Given the description of an element on the screen output the (x, y) to click on. 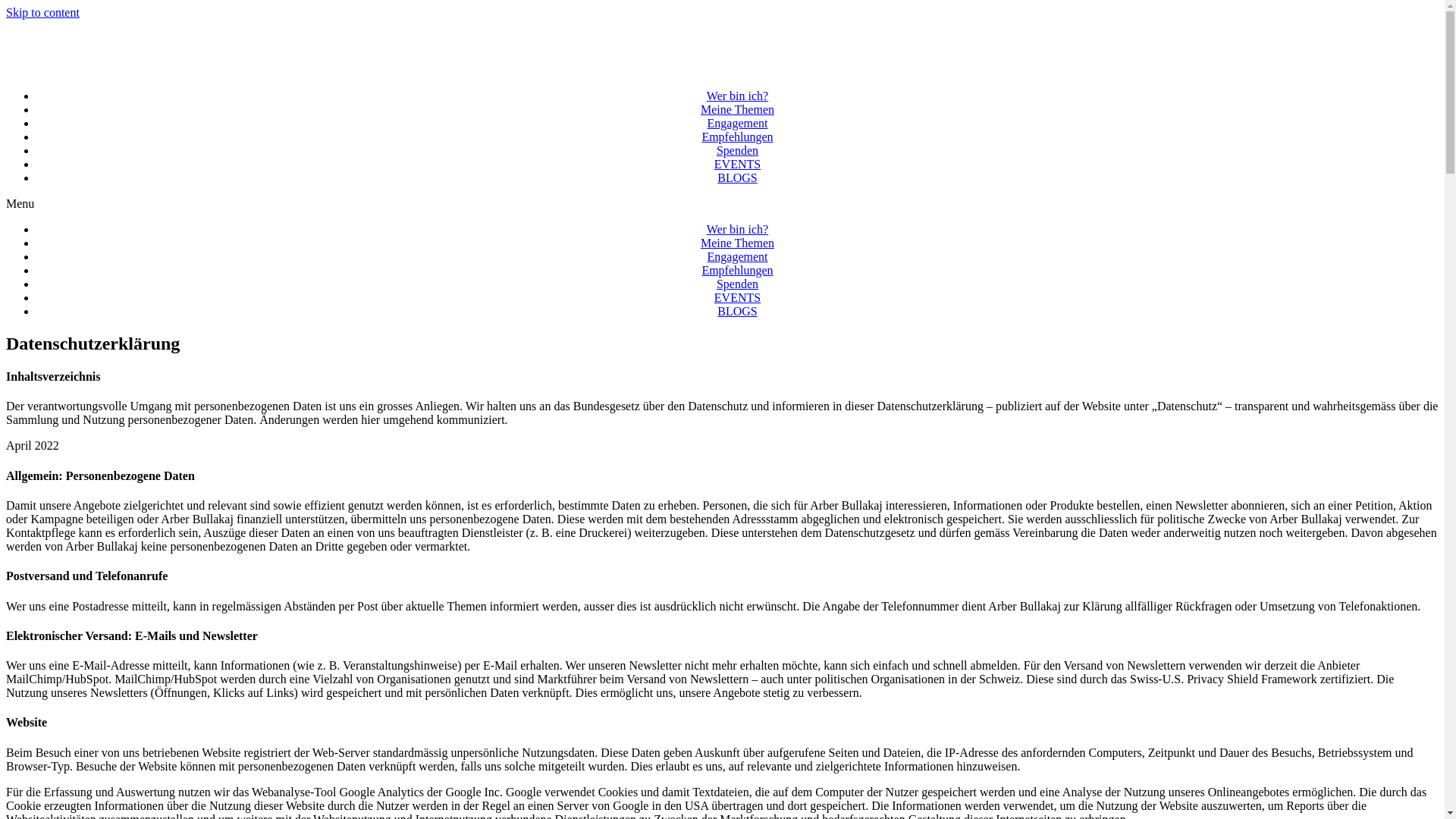
EVENTS Element type: text (737, 164)
Wer bin ich? Element type: text (737, 229)
Meine Themen Element type: text (737, 243)
Engagement Element type: text (737, 123)
EVENTS Element type: text (737, 297)
Spenden Element type: text (737, 150)
Empfehlungen Element type: text (737, 270)
Spenden Element type: text (737, 284)
Engagement Element type: text (737, 256)
BLOGS Element type: text (737, 178)
Meine Themen Element type: text (737, 109)
Skip to content Element type: text (42, 12)
Wer bin ich? Element type: text (737, 96)
Empfehlungen Element type: text (737, 137)
BLOGS Element type: text (737, 311)
